Given the description of an element on the screen output the (x, y) to click on. 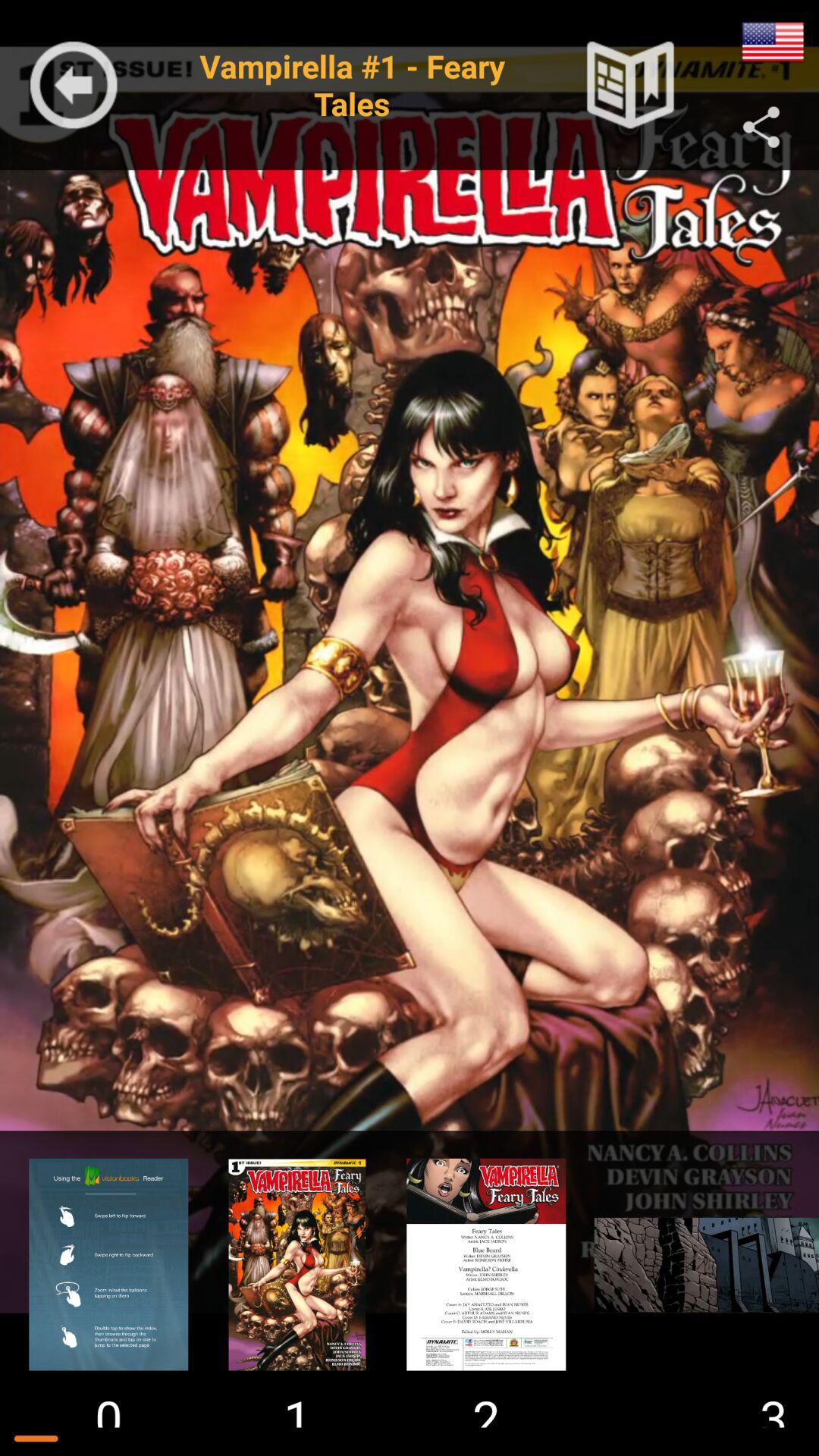
share on social media (761, 127)
